Given the description of an element on the screen output the (x, y) to click on. 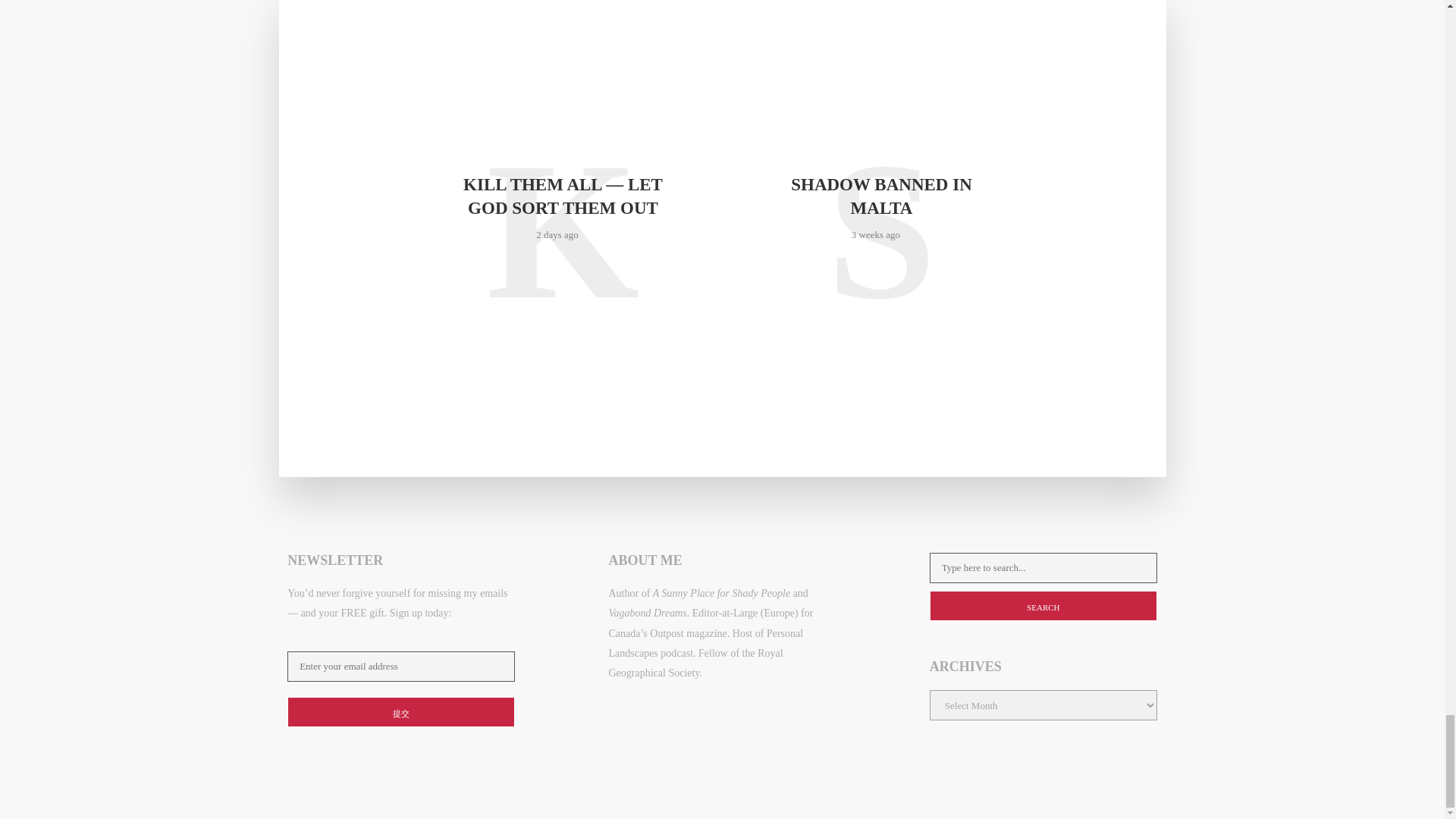
SHADOW BANNED IN MALTA (880, 196)
SEARCH (1043, 605)
